Given the description of an element on the screen output the (x, y) to click on. 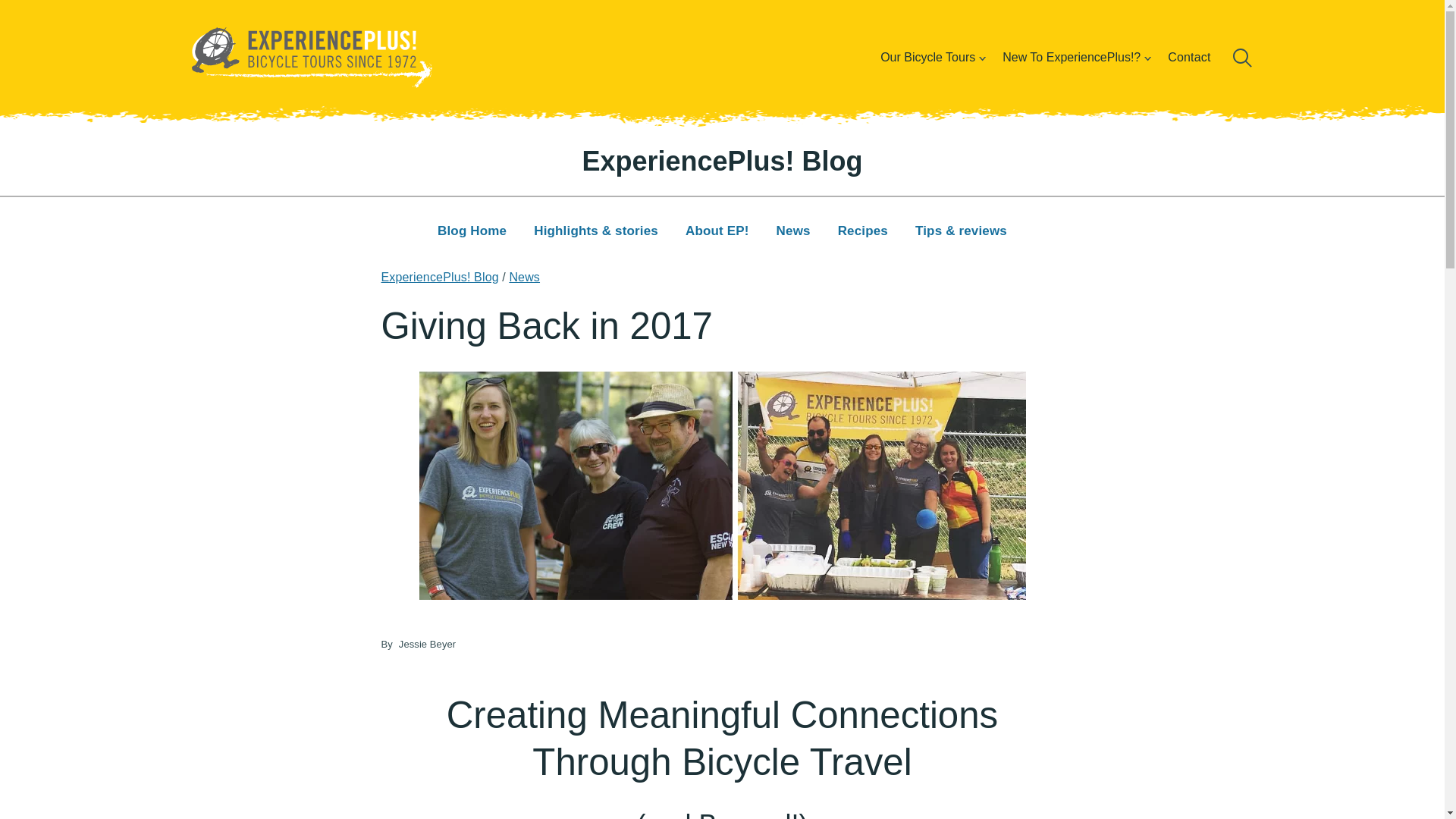
About EP! (717, 232)
News (524, 277)
ExperiencePlus! Blog (438, 277)
Our Bicycle Tours (927, 56)
News (793, 232)
Recipes (862, 232)
New To ExperiencePlus!? (1071, 56)
Contact (1188, 57)
Blog Home (471, 232)
